Given the description of an element on the screen output the (x, y) to click on. 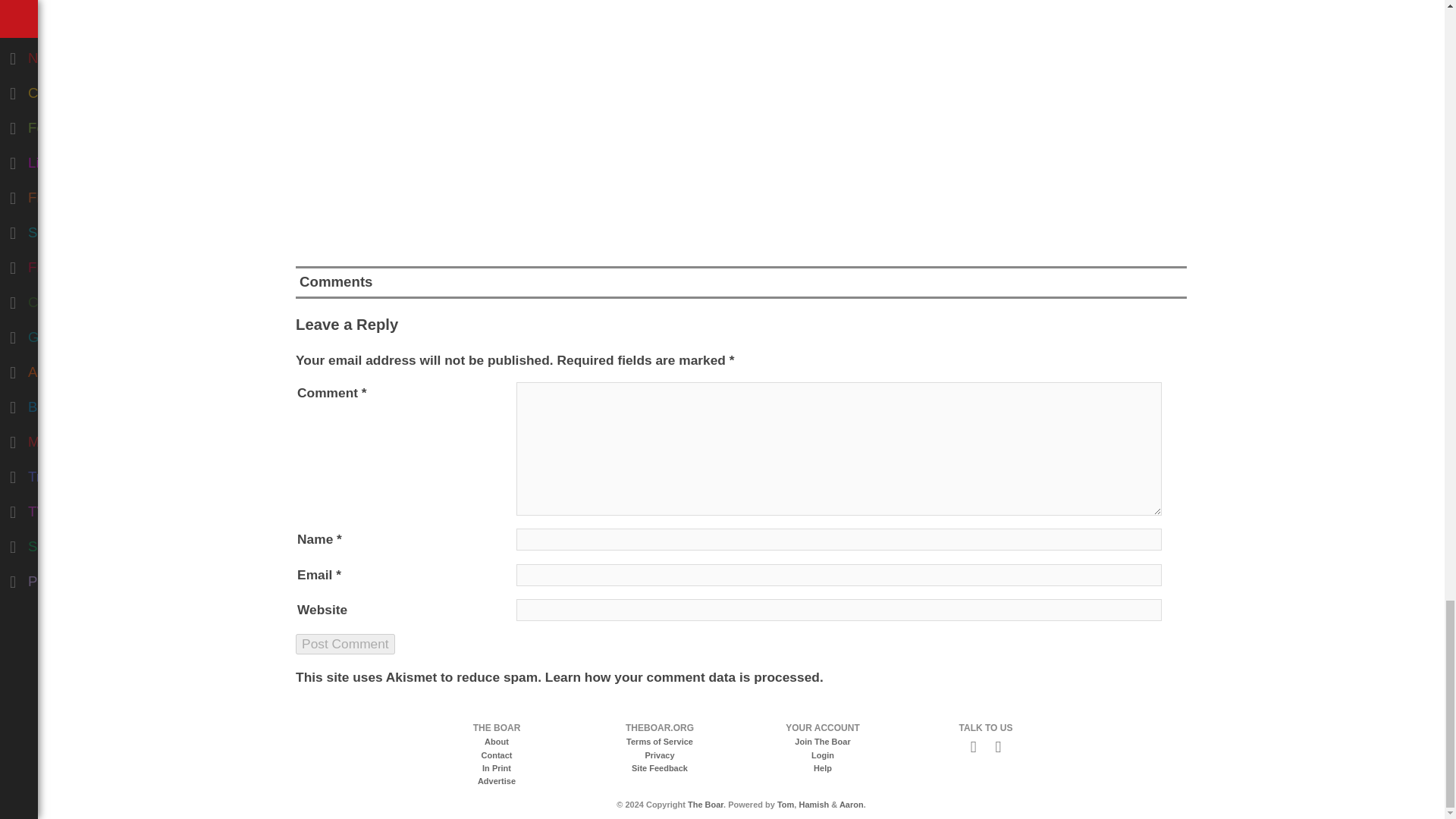
About (496, 741)
Login (822, 755)
Post Comment (344, 643)
Post Comment (344, 643)
Learn how your comment data is processed (681, 676)
The Boar (705, 804)
Contact (496, 755)
